Given the description of an element on the screen output the (x, y) to click on. 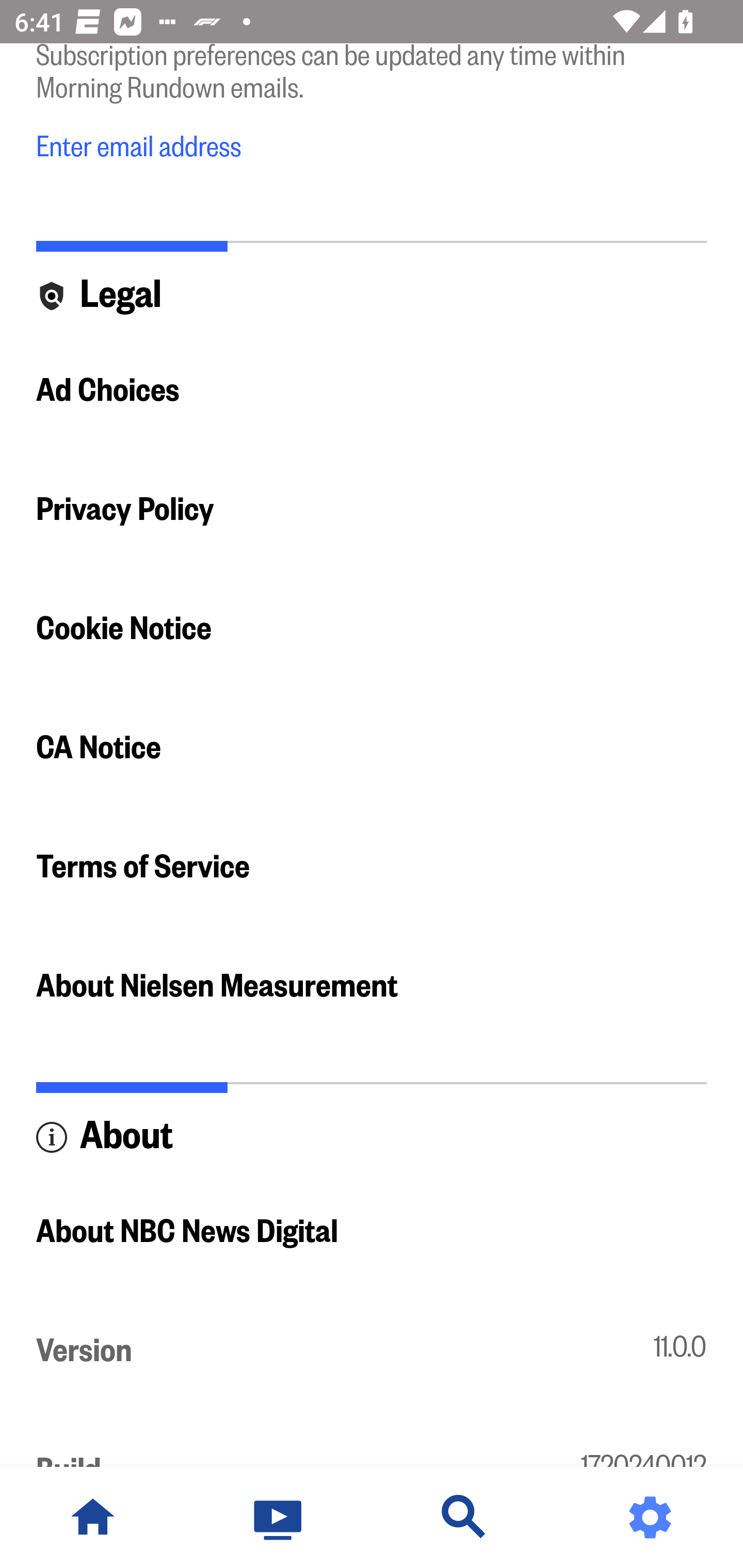
Ad Choices (371, 390)
Privacy Policy (371, 509)
Cookie Notice (371, 628)
CA Notice (371, 747)
Terms of Service (371, 866)
About Nielsen Measurement (371, 985)
About NBC News Digital (371, 1232)
Version 11.0.0 (371, 1351)
NBC News Home (92, 1517)
Watch (278, 1517)
Discover (464, 1517)
